Given the description of an element on the screen output the (x, y) to click on. 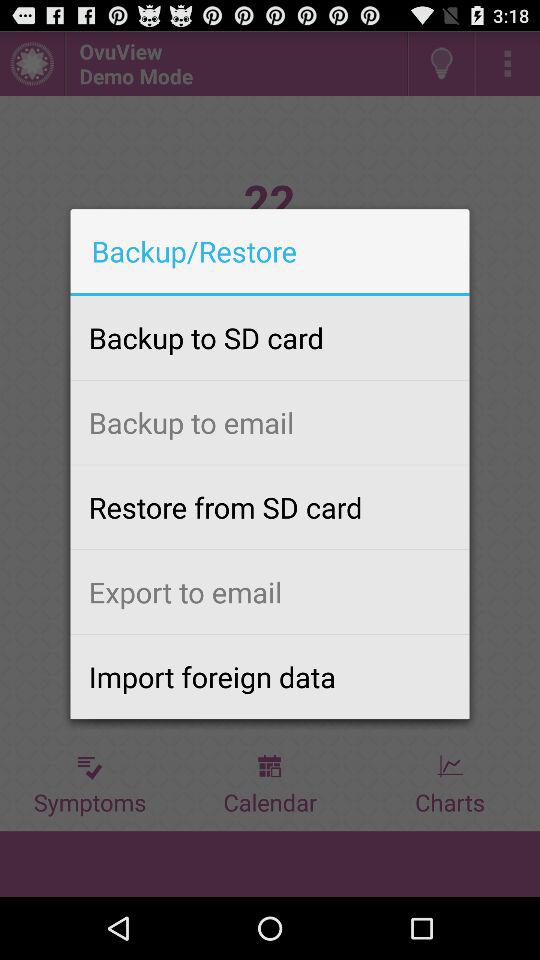
click the import foreign data item (269, 676)
